Given the description of an element on the screen output the (x, y) to click on. 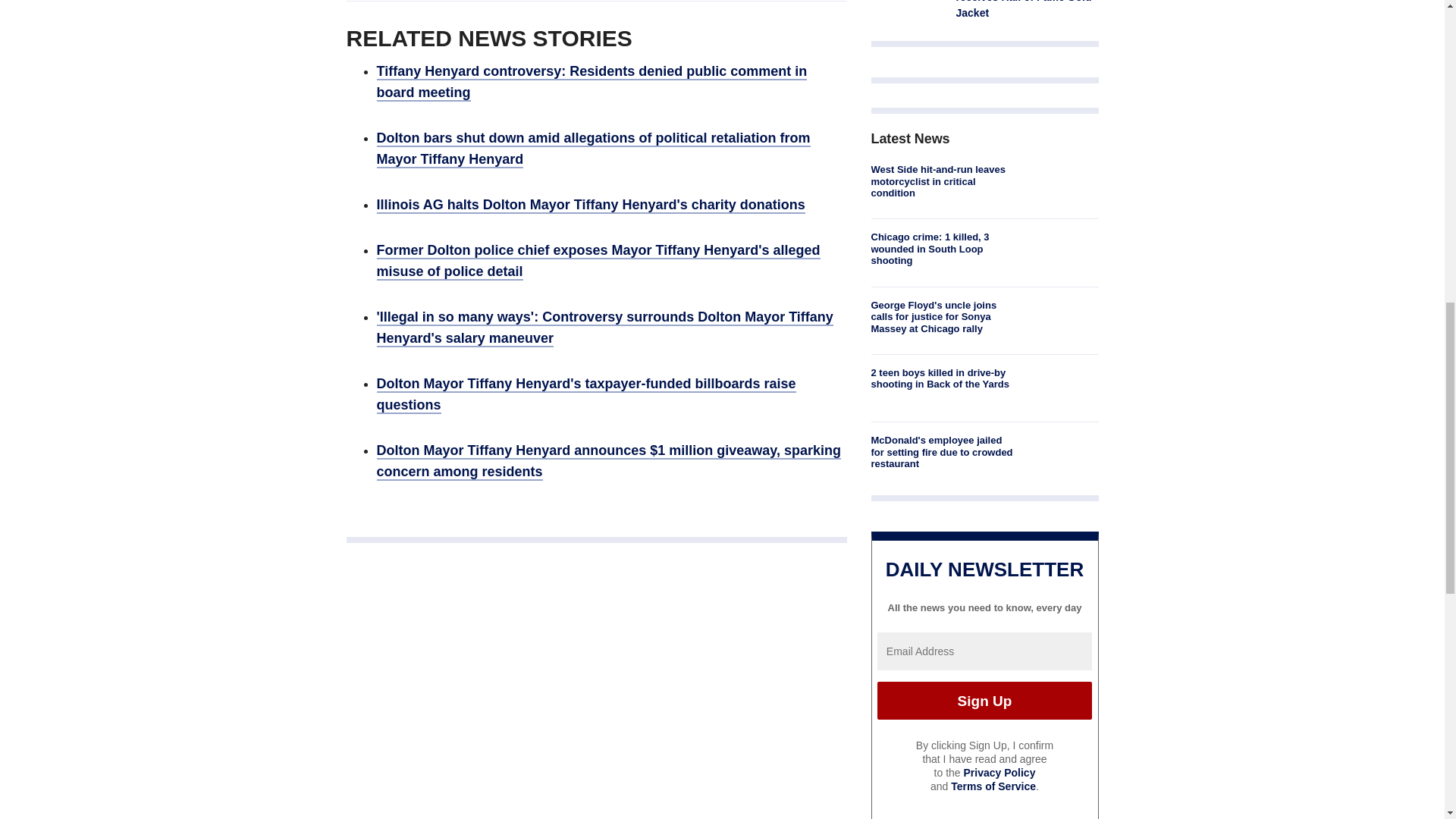
Sign Up (984, 700)
